Given the description of an element on the screen output the (x, y) to click on. 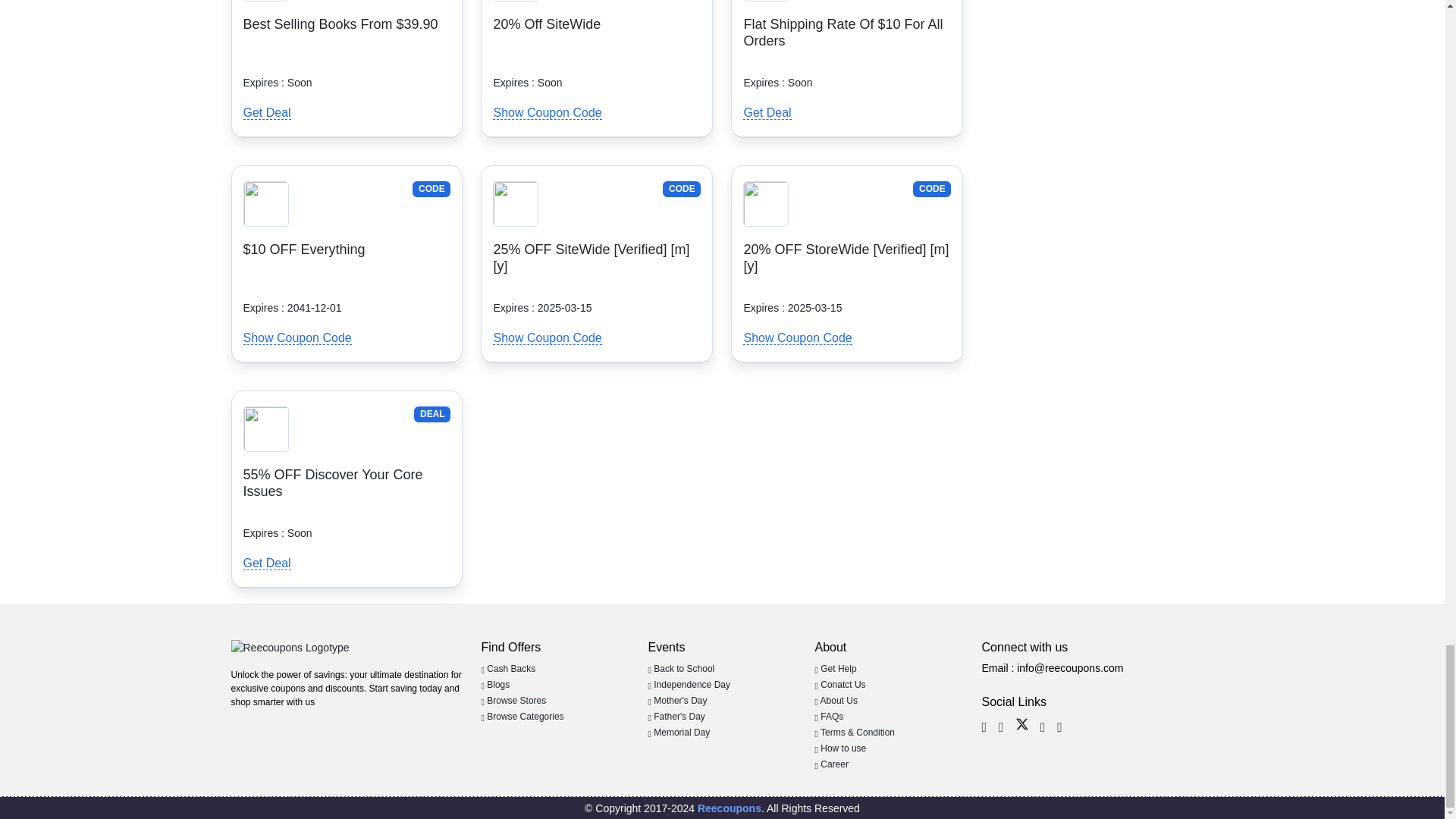
Independence Day (688, 684)
Memorial Day (678, 732)
Father's Day (675, 716)
Back to School (680, 668)
Mother's Day (676, 700)
